Given the description of an element on the screen output the (x, y) to click on. 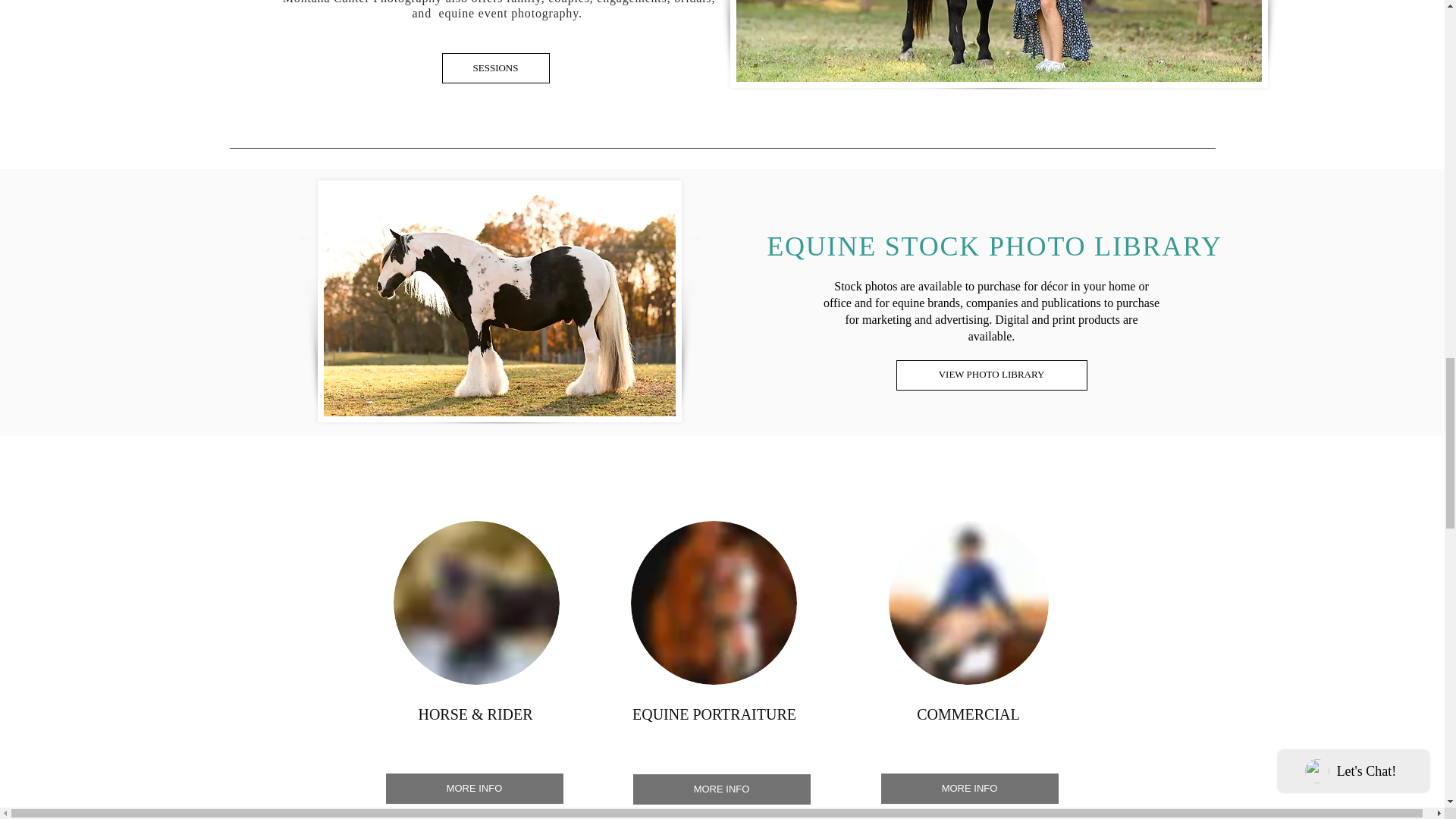
VIEW PHOTO LIBRARY (991, 375)
guy2.jpg (476, 602)
guy3.jpg (968, 602)
guy4.jpg (713, 602)
MORE INFO (473, 788)
MORE INFO (969, 788)
MORE INFO (720, 788)
SESSIONS (494, 68)
